Given the description of an element on the screen output the (x, y) to click on. 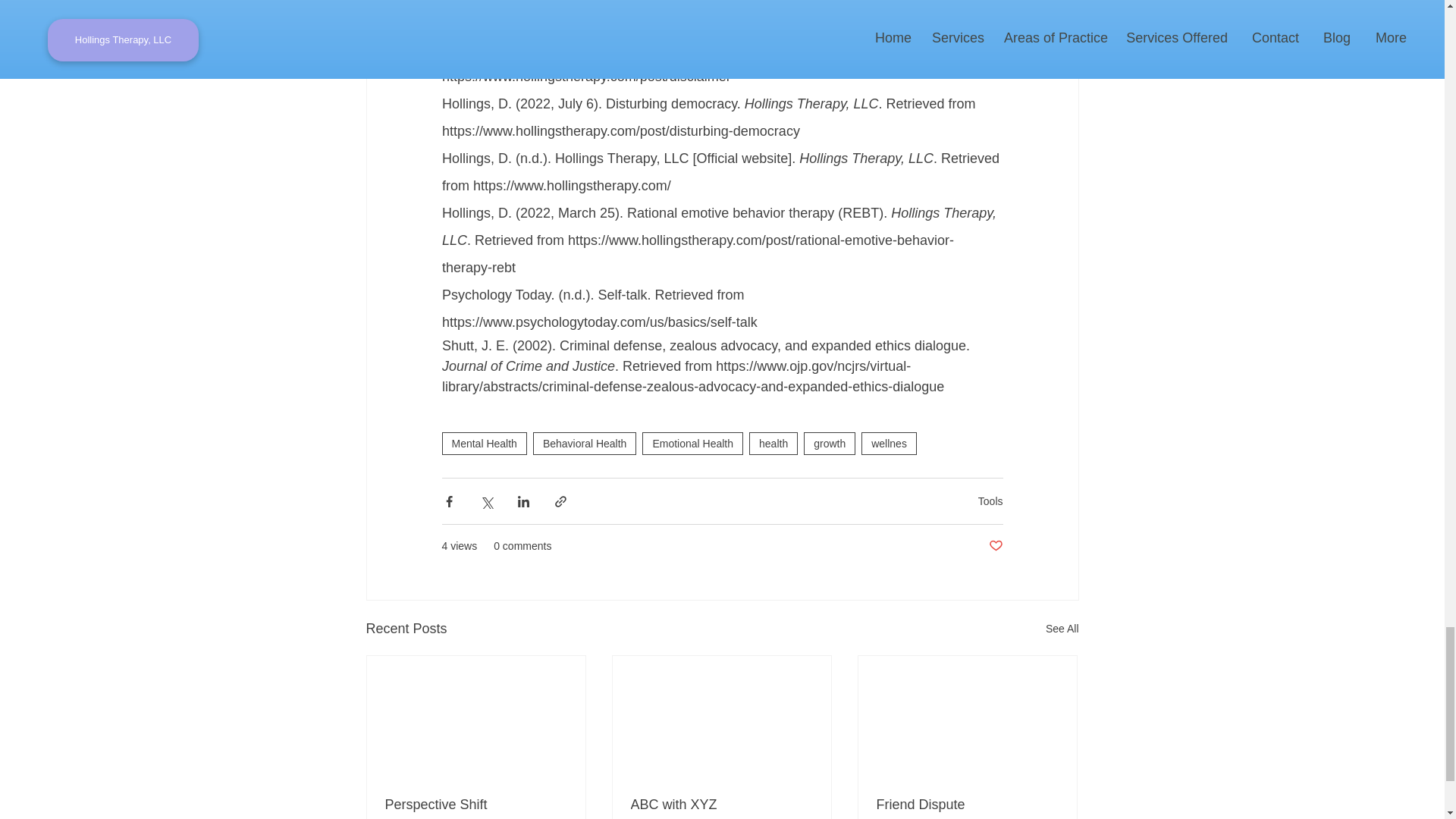
Behavioral Health (584, 443)
Emotional Health (692, 443)
wellnes (889, 443)
Tools (990, 500)
growth (829, 443)
health (773, 443)
Mental Health (483, 443)
